Given the description of an element on the screen output the (x, y) to click on. 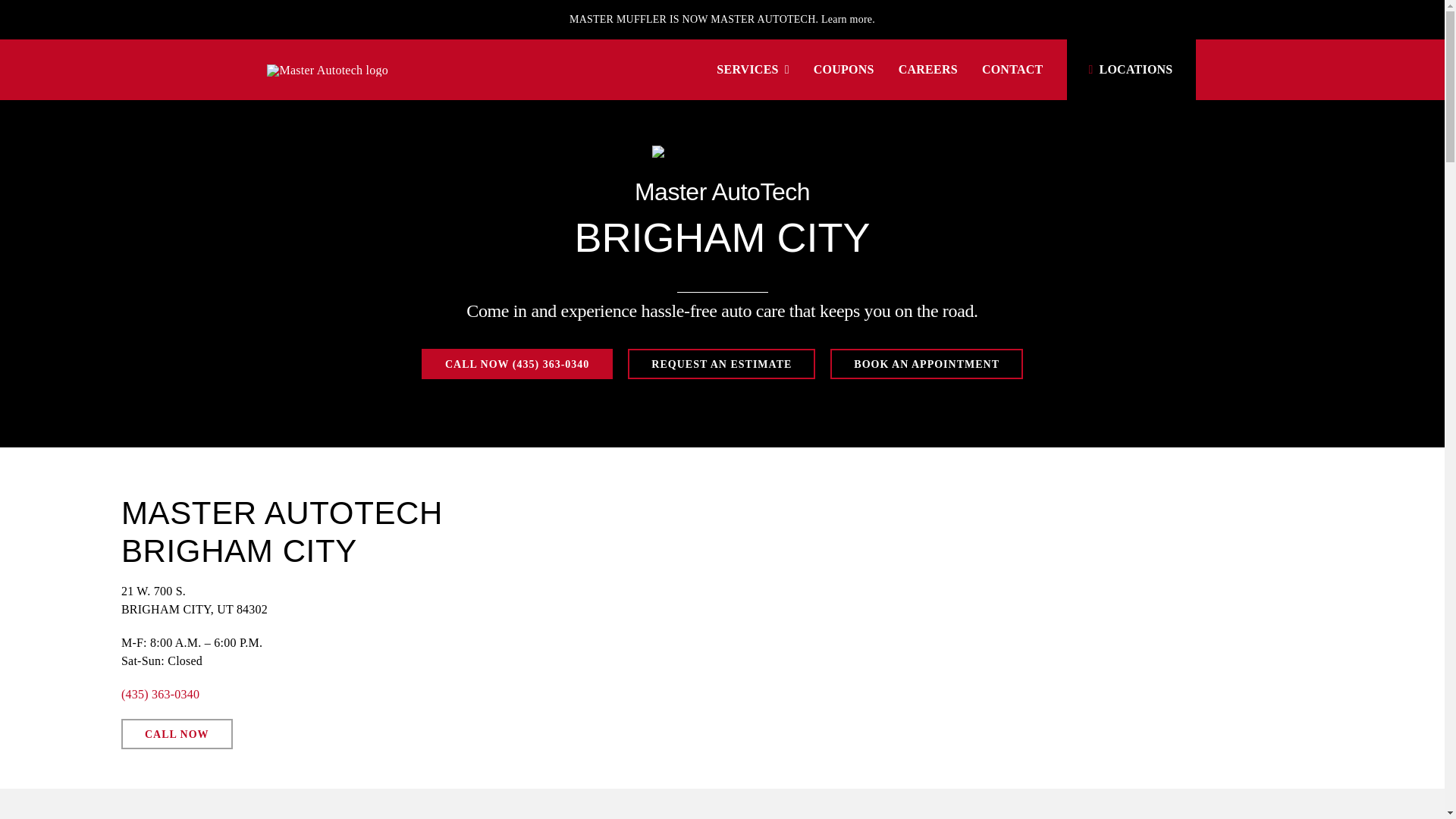
CONTACT (1012, 69)
MASTER MUFFLER IS NOW MASTER AUTOTECH. Learn more. (721, 19)
LOCATIONS (1126, 69)
CAREERS (928, 69)
COUPONS (844, 69)
mcheck-circle (722, 157)
SERVICES (752, 69)
See Locations Near You (1126, 69)
